Given the description of an element on the screen output the (x, y) to click on. 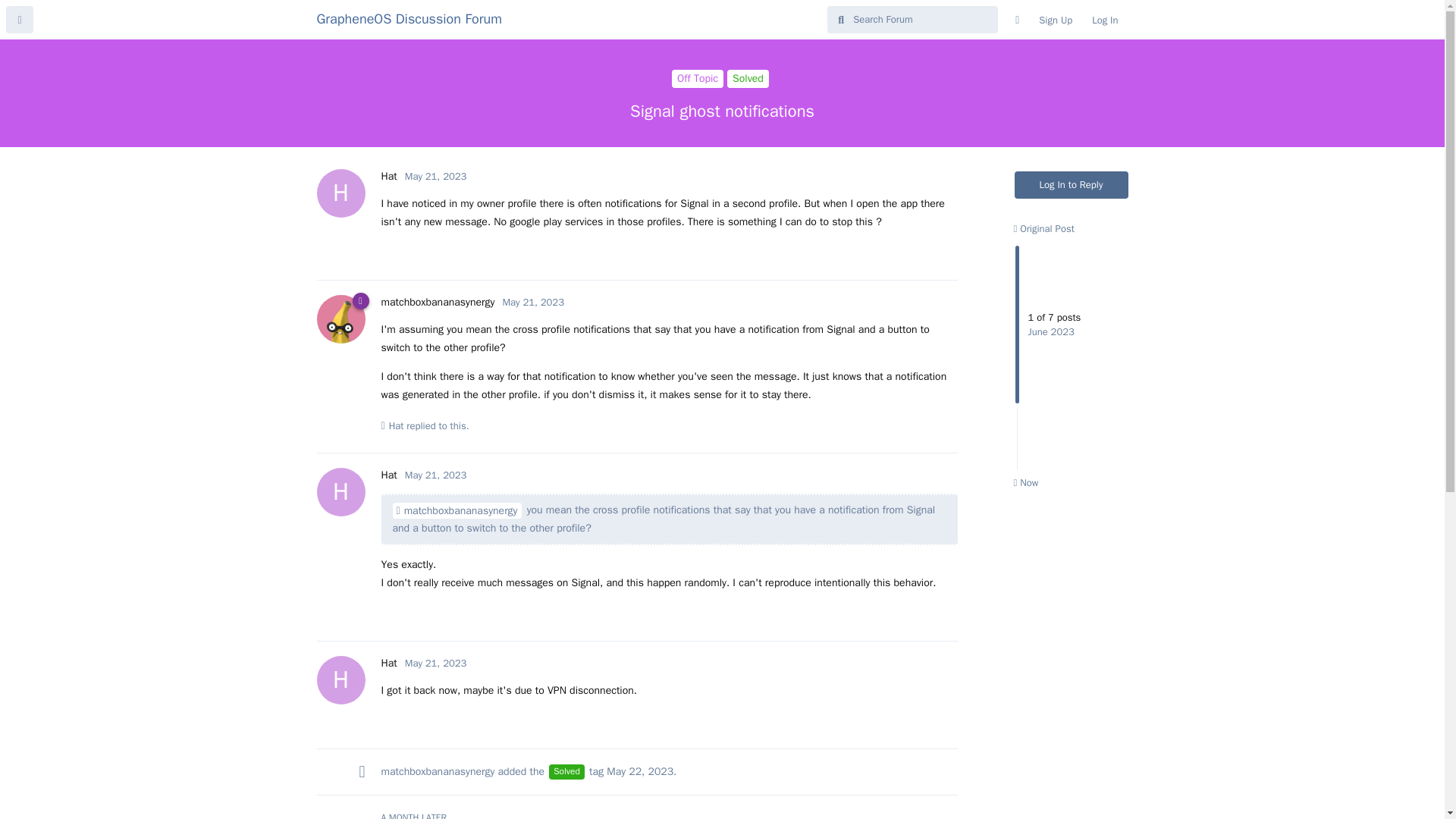
matchboxbananasynergy (457, 510)
Monday, May 22, 2023 6:02 AM (639, 771)
Solved (566, 771)
Original Post (1043, 228)
May 21, 2023 (533, 301)
May 21, 2023 (435, 662)
Now (1025, 481)
matchboxbananasynergy (437, 301)
Log In to Reply (1071, 185)
GrapheneOS Discussion Forum (409, 18)
